Given the description of an element on the screen output the (x, y) to click on. 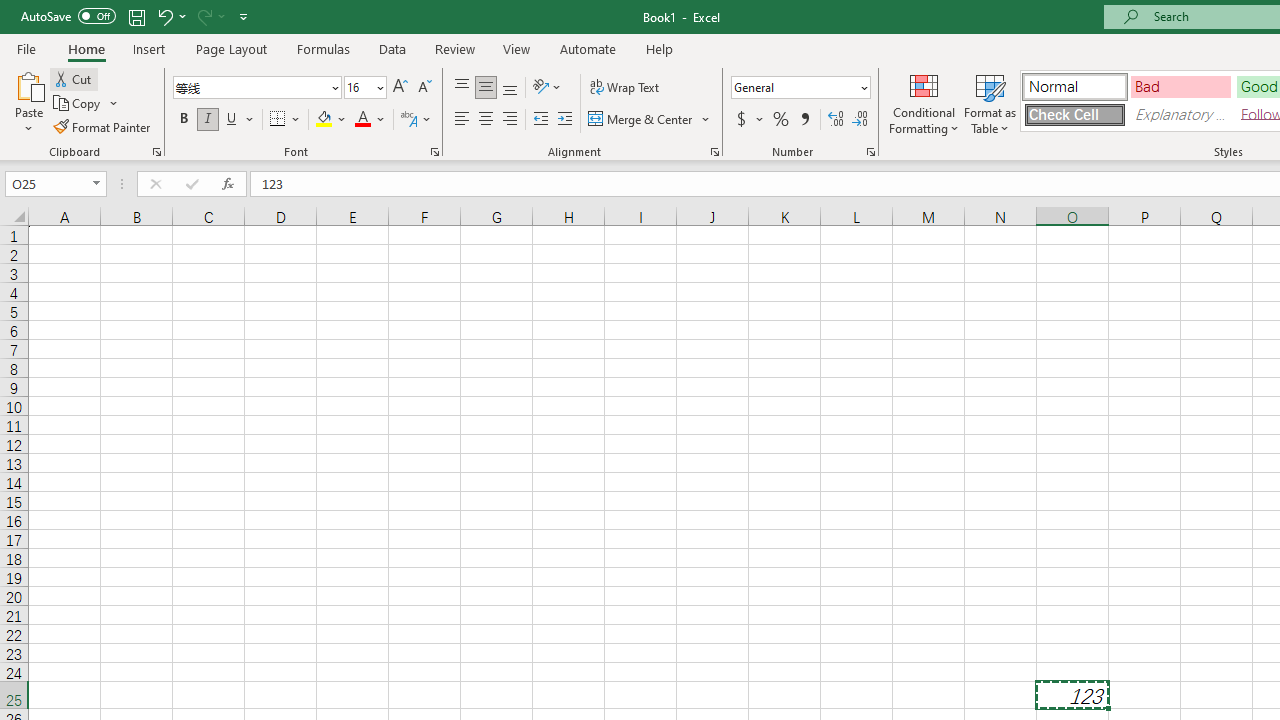
Merge & Center (641, 119)
Show Phonetic Field (408, 119)
Bottom Border (278, 119)
Underline (239, 119)
Font (256, 87)
Number Format (794, 87)
Align Right (509, 119)
Format as Table (990, 102)
Explanatory Text (1180, 114)
Office Clipboard... (156, 151)
